Given the description of an element on the screen output the (x, y) to click on. 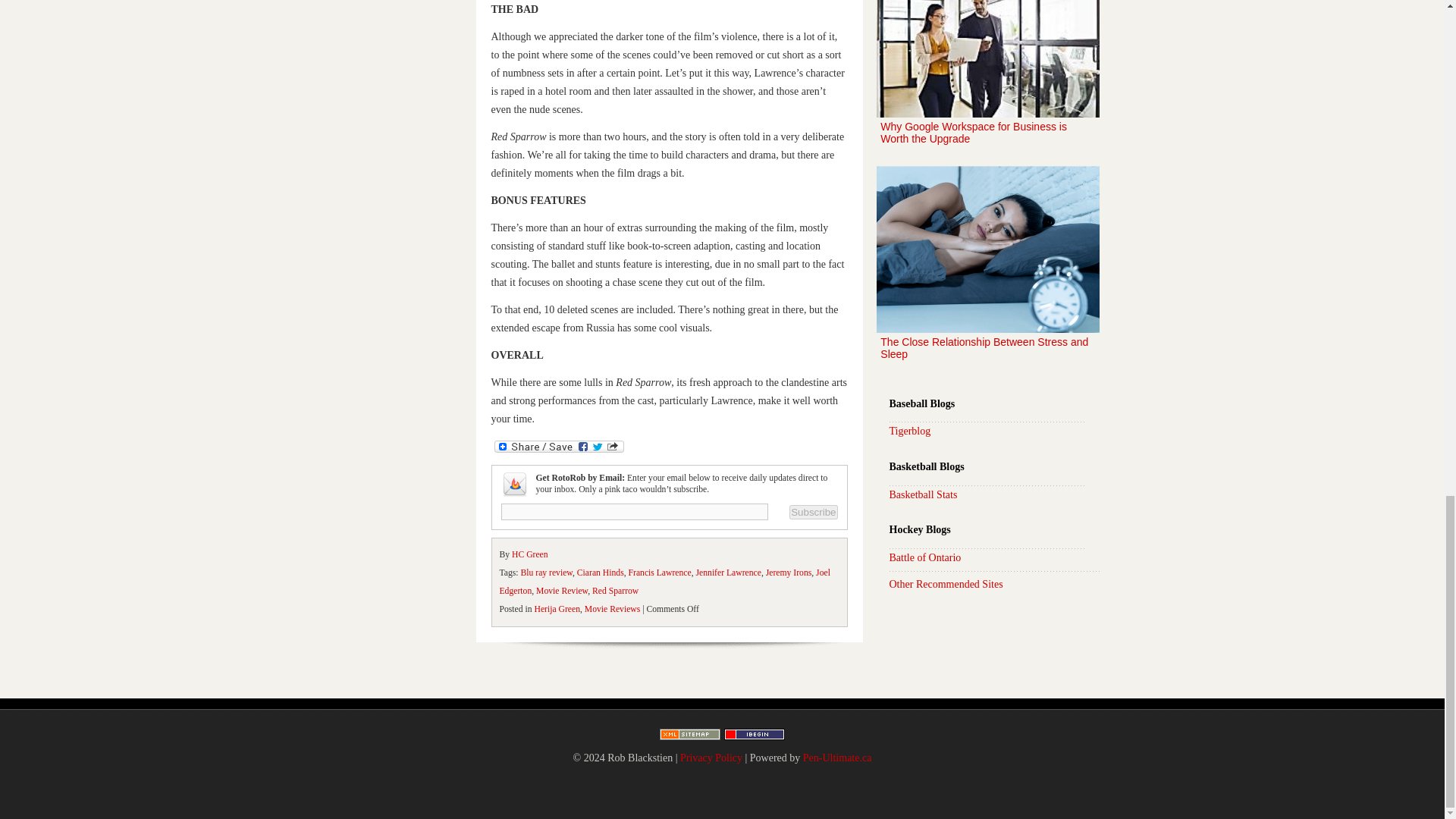
HC Green (530, 554)
Why Google Workspace for Business is Worth the Upgrade (987, 80)
Blu ray review (545, 573)
Ciaran Hinds (600, 573)
Movie Reviews (612, 609)
Subscribe (813, 511)
Jeremy Irons (788, 573)
Joel Edgerton (664, 582)
The Close Relationship Between Stress and Sleep (987, 271)
Tigerblog (909, 430)
Basketball Stats (922, 494)
Movie Review (561, 591)
Directory for Toronto, ON (753, 736)
Jennifer Lawrence (728, 573)
Francis Lawrence (659, 573)
